Given the description of an element on the screen output the (x, y) to click on. 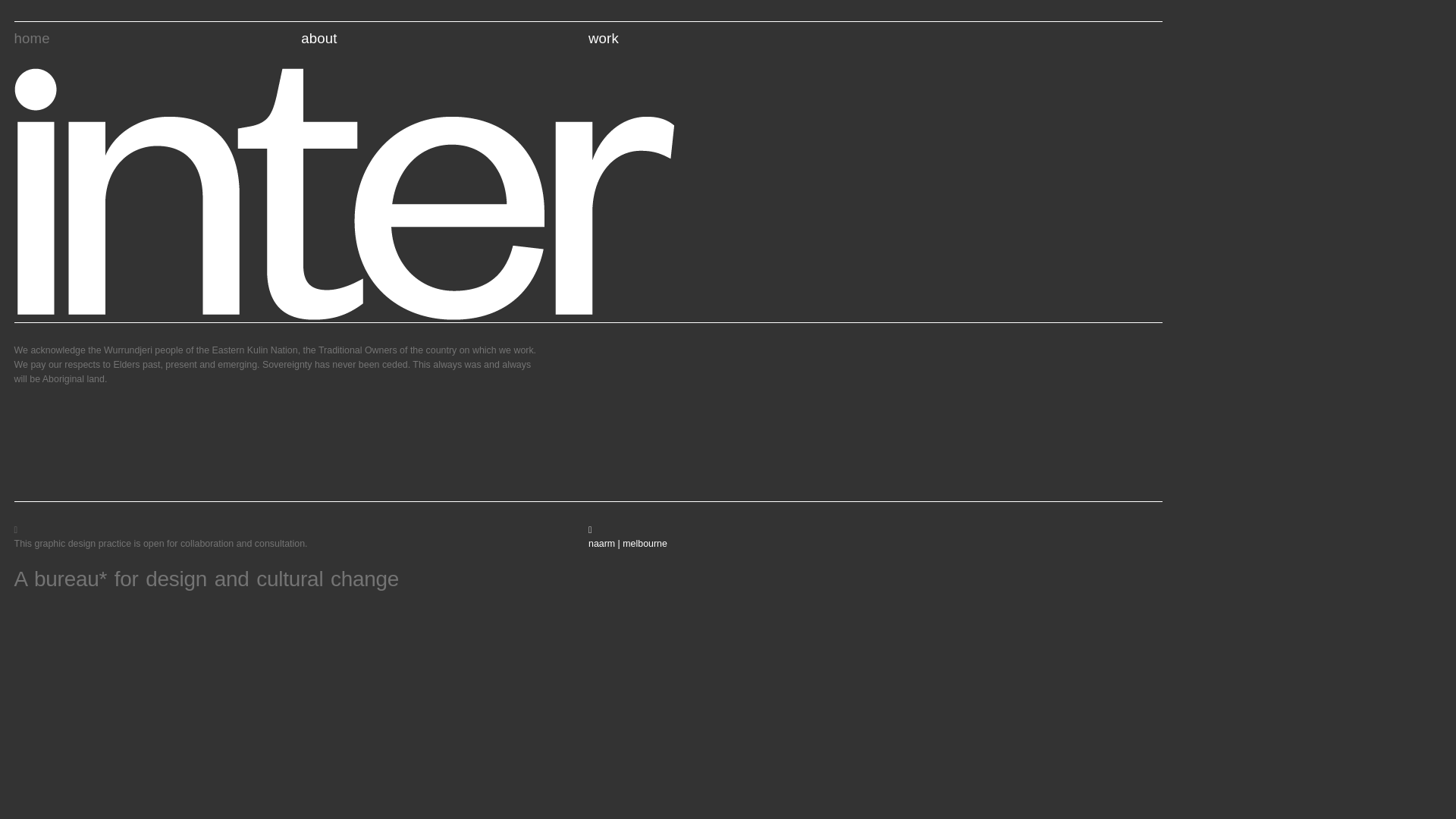
about (318, 38)
work (603, 38)
